Given the description of an element on the screen output the (x, y) to click on. 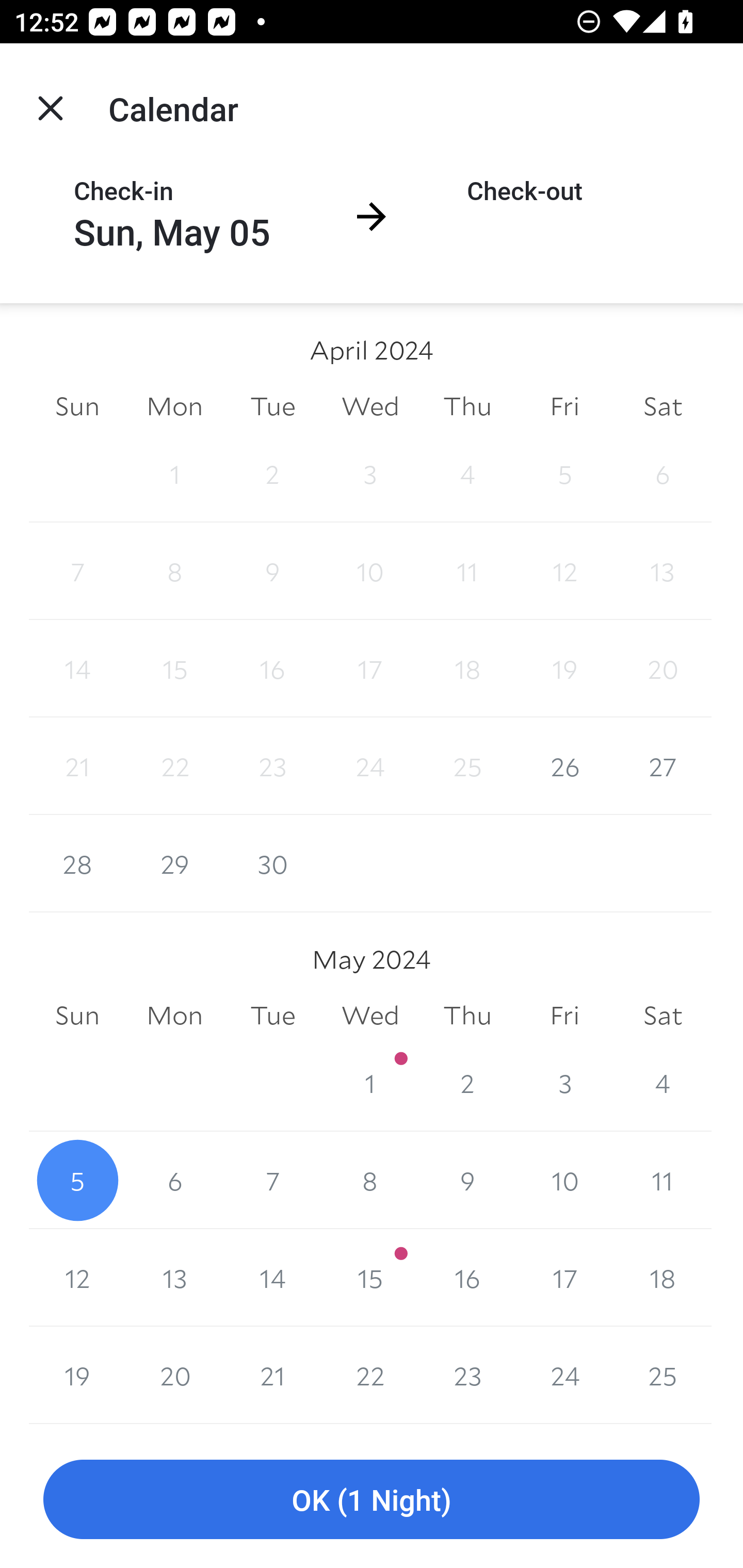
Sun (77, 405)
Mon (174, 405)
Tue (272, 405)
Wed (370, 405)
Thu (467, 405)
Fri (564, 405)
Sat (662, 405)
1 1 April 2024 (174, 473)
2 2 April 2024 (272, 473)
3 3 April 2024 (370, 473)
4 4 April 2024 (467, 473)
5 5 April 2024 (564, 473)
6 6 April 2024 (662, 473)
7 7 April 2024 (77, 570)
8 8 April 2024 (174, 570)
9 9 April 2024 (272, 570)
10 10 April 2024 (370, 570)
11 11 April 2024 (467, 570)
12 12 April 2024 (564, 570)
13 13 April 2024 (662, 570)
14 14 April 2024 (77, 668)
15 15 April 2024 (174, 668)
16 16 April 2024 (272, 668)
17 17 April 2024 (370, 668)
18 18 April 2024 (467, 668)
19 19 April 2024 (564, 668)
20 20 April 2024 (662, 668)
21 21 April 2024 (77, 766)
22 22 April 2024 (174, 766)
23 23 April 2024 (272, 766)
24 24 April 2024 (370, 766)
25 25 April 2024 (467, 766)
26 26 April 2024 (564, 766)
27 27 April 2024 (662, 766)
28 28 April 2024 (77, 863)
29 29 April 2024 (174, 863)
30 30 April 2024 (272, 863)
Sun (77, 1015)
Mon (174, 1015)
Tue (272, 1015)
Wed (370, 1015)
Thu (467, 1015)
Fri (564, 1015)
Sat (662, 1015)
1 1 May 2024 (370, 1083)
2 2 May 2024 (467, 1083)
3 3 May 2024 (564, 1083)
4 4 May 2024 (662, 1083)
5 5 May 2024 (77, 1180)
6 6 May 2024 (174, 1180)
7 7 May 2024 (272, 1180)
8 8 May 2024 (370, 1180)
9 9 May 2024 (467, 1180)
10 10 May 2024 (564, 1180)
11 11 May 2024 (662, 1180)
12 12 May 2024 (77, 1277)
13 13 May 2024 (174, 1277)
14 14 May 2024 (272, 1277)
15 15 May 2024 (370, 1277)
16 16 May 2024 (467, 1277)
17 17 May 2024 (564, 1277)
18 18 May 2024 (662, 1277)
19 19 May 2024 (77, 1374)
20 20 May 2024 (174, 1374)
21 21 May 2024 (272, 1374)
22 22 May 2024 (370, 1374)
23 23 May 2024 (467, 1374)
24 24 May 2024 (564, 1374)
25 25 May 2024 (662, 1374)
OK (1 Night) (371, 1499)
